Given the description of an element on the screen output the (x, y) to click on. 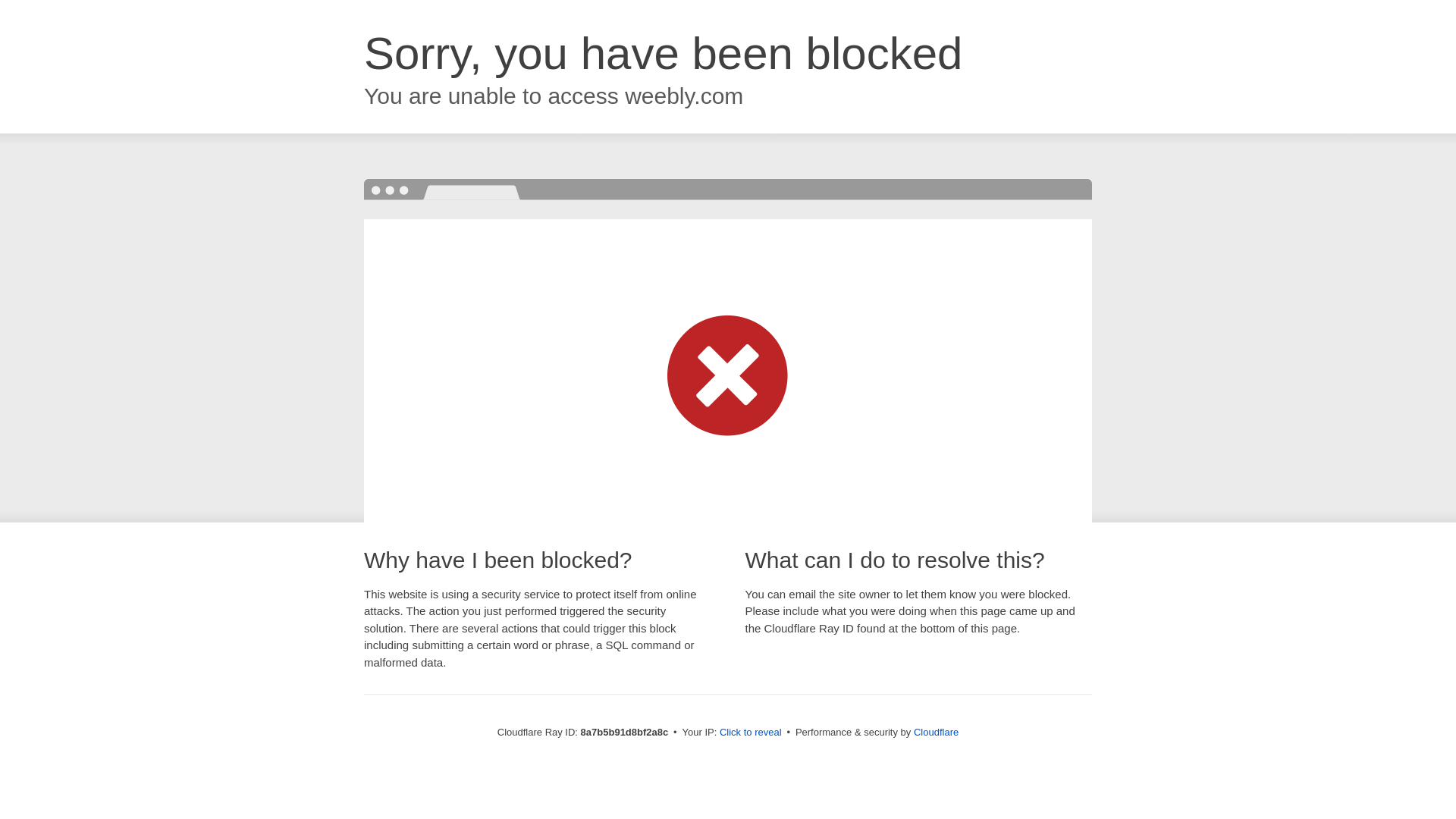
Cloudflare (936, 731)
Click to reveal (750, 732)
